Given the description of an element on the screen output the (x, y) to click on. 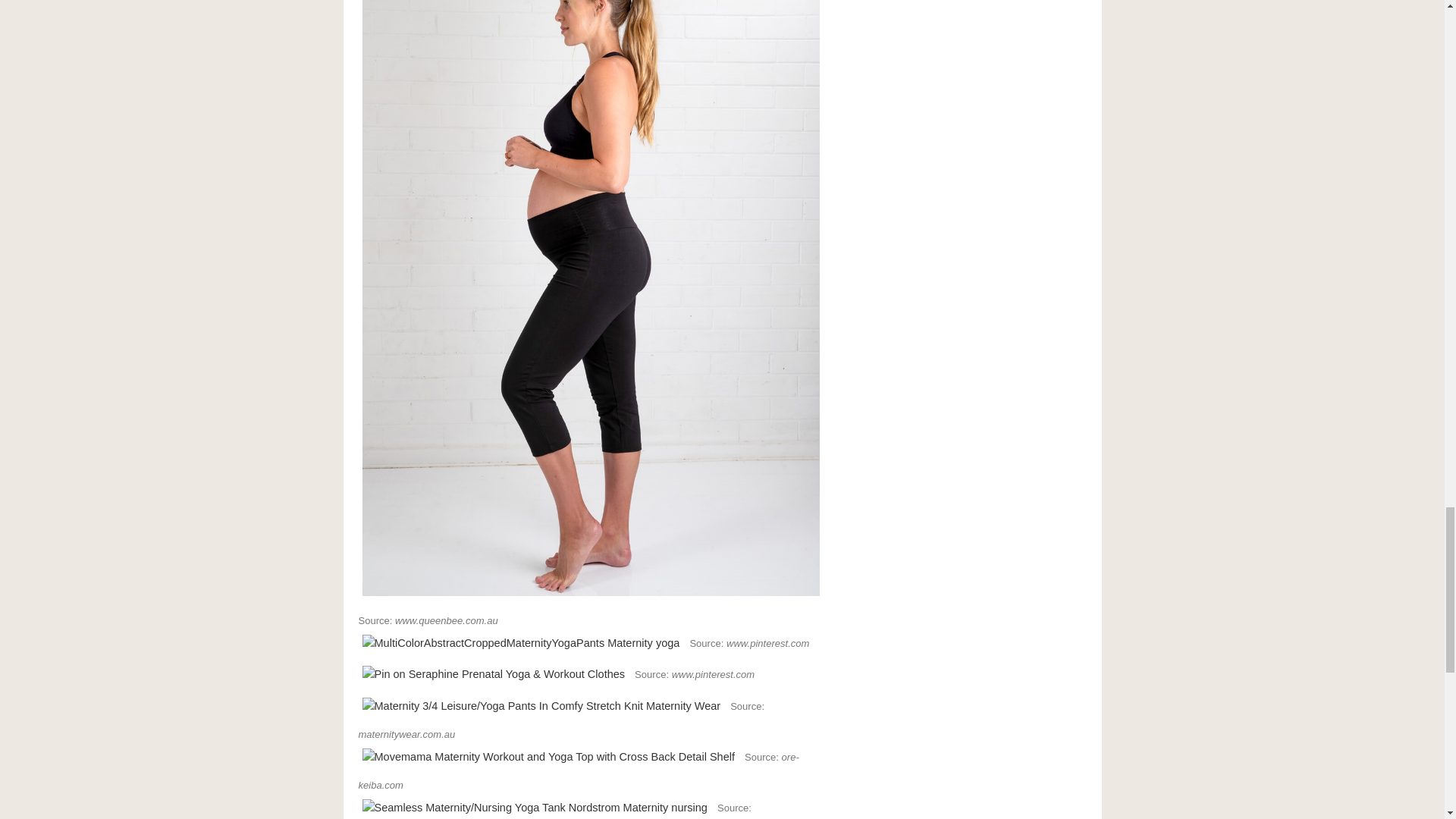
Maternity Yoga Clothes In Australia 8 (534, 807)
Maternity Yoga Clothes In Australia 6 (540, 706)
Maternity Yoga Clothes In Australia 5 (493, 674)
Maternity Yoga Clothes In Australia 4 (520, 643)
Maternity Yoga Clothes In Australia 7 (548, 756)
